Given the description of an element on the screen output the (x, y) to click on. 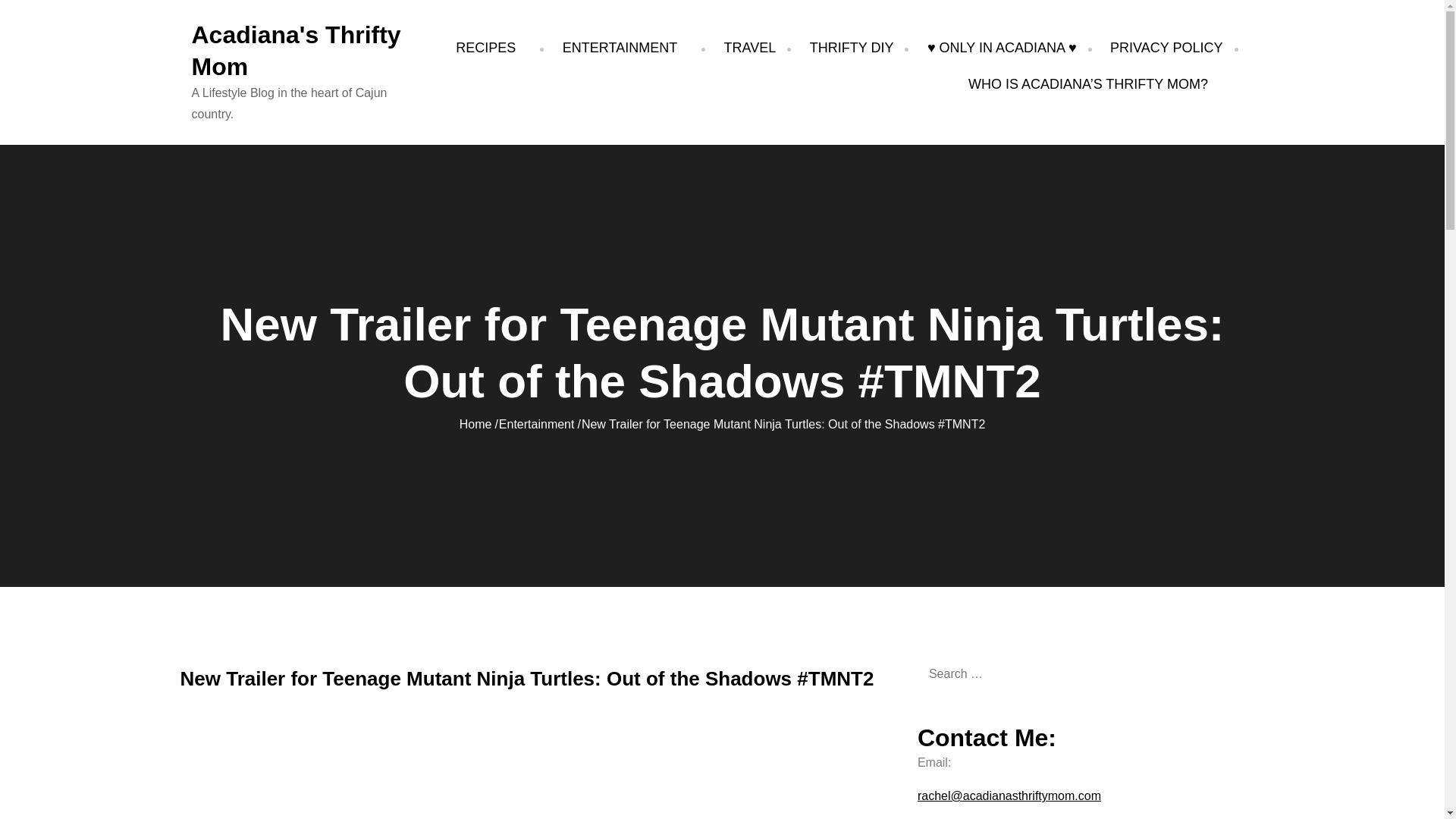
TRAVEL (749, 47)
THRIFTY DIY (851, 47)
Acadiana's Thrifty Mom (295, 50)
RECIPES (491, 47)
ENTERTAINMENT (626, 47)
PRIVACY POLICY (1166, 47)
Home (476, 423)
Entertainment (537, 423)
